Given the description of an element on the screen output the (x, y) to click on. 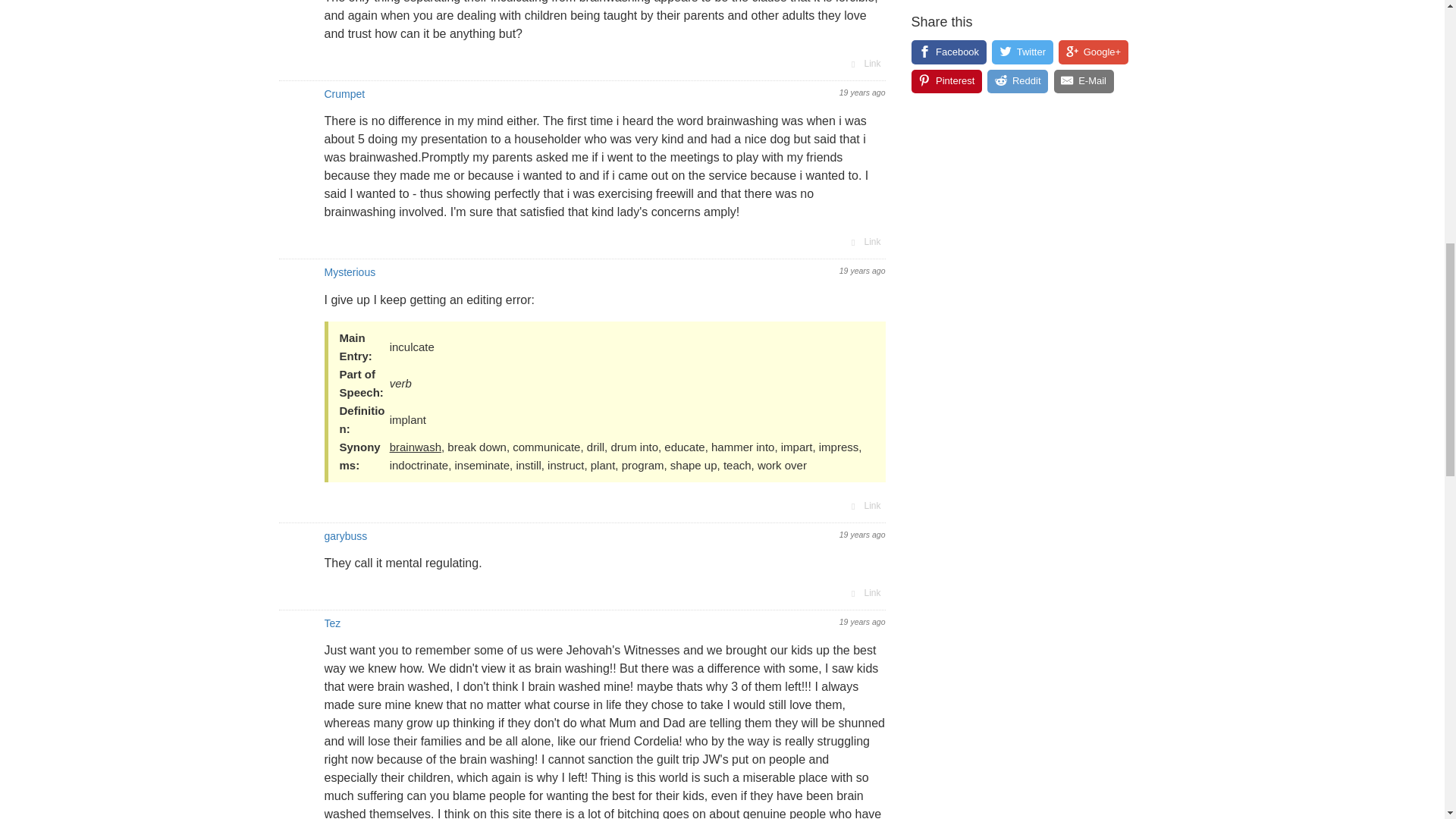
Sat, Dec 17 2005, 03:55:00 (862, 92)
Sat, Dec 17 2005, 05:02:00 (862, 621)
Sat, Dec 17 2005, 03:56:00 (862, 270)
Link (864, 592)
Mysterious (349, 272)
Link (864, 241)
garybuss (346, 535)
Crumpet (344, 93)
Link (864, 505)
Sat, Dec 17 2005, 04:15:00 (862, 533)
